Given the description of an element on the screen output the (x, y) to click on. 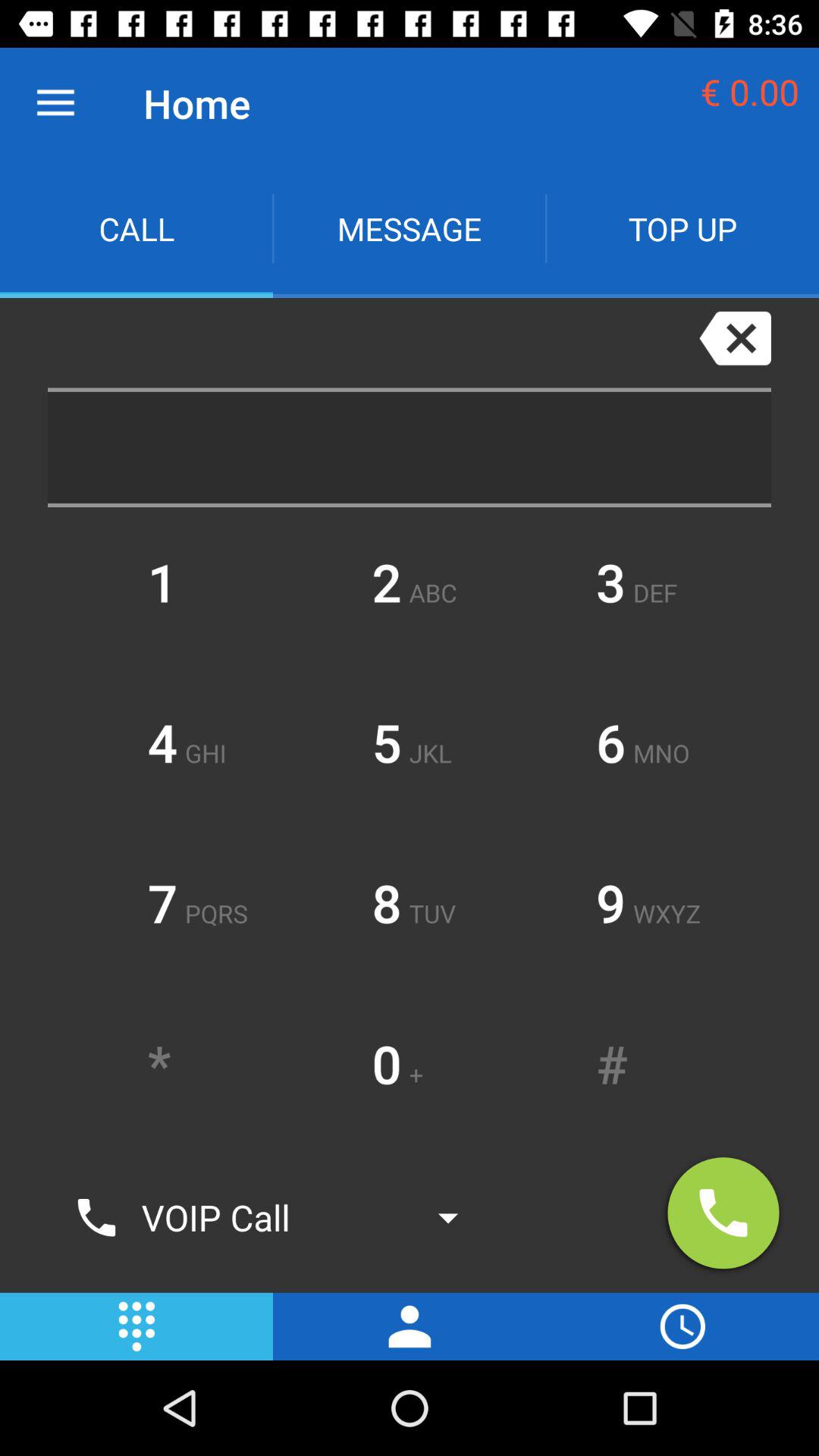
press the icon to the right of call (409, 228)
